Given the description of an element on the screen output the (x, y) to click on. 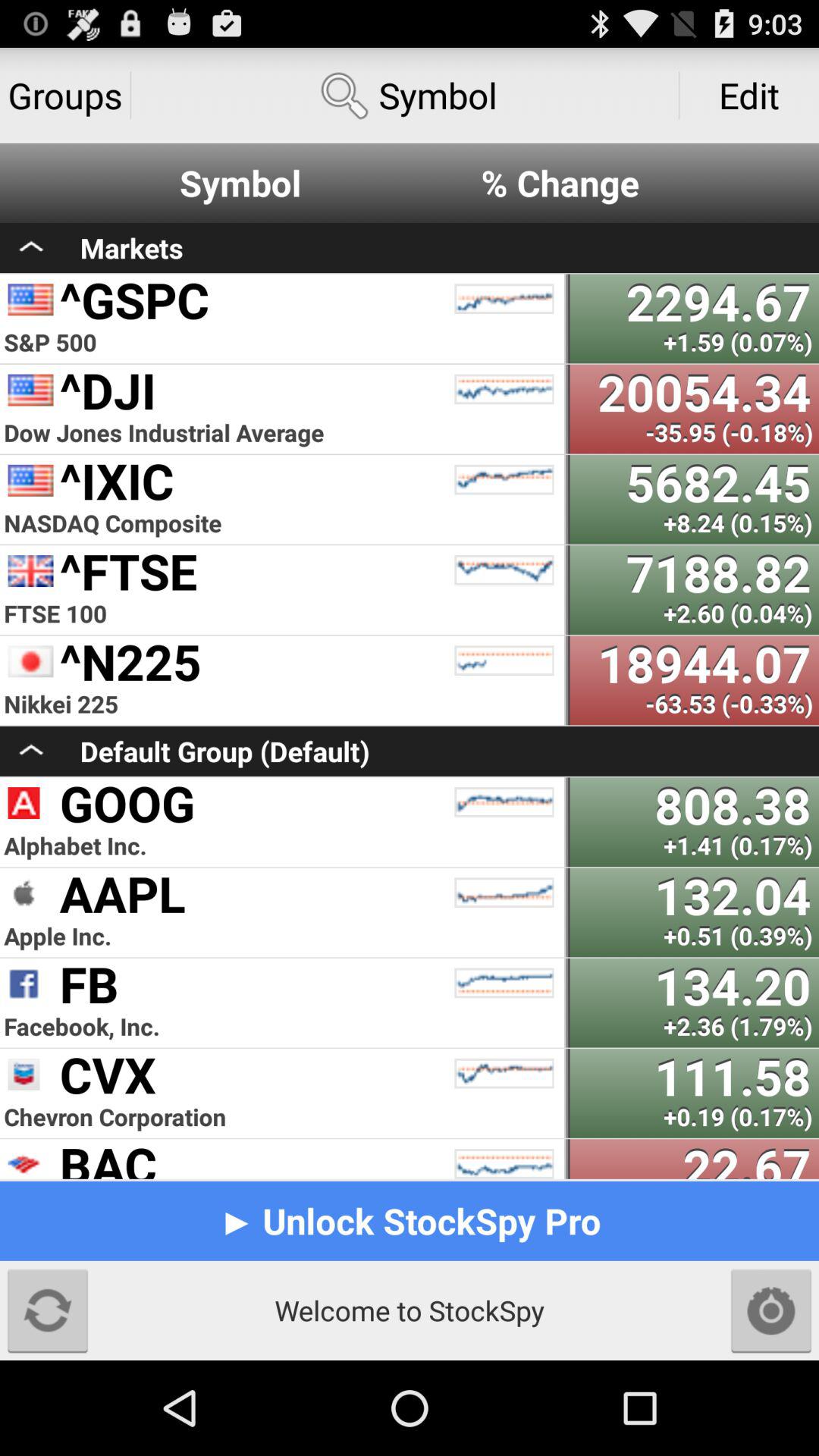
lock option (771, 1310)
